Given the description of an element on the screen output the (x, y) to click on. 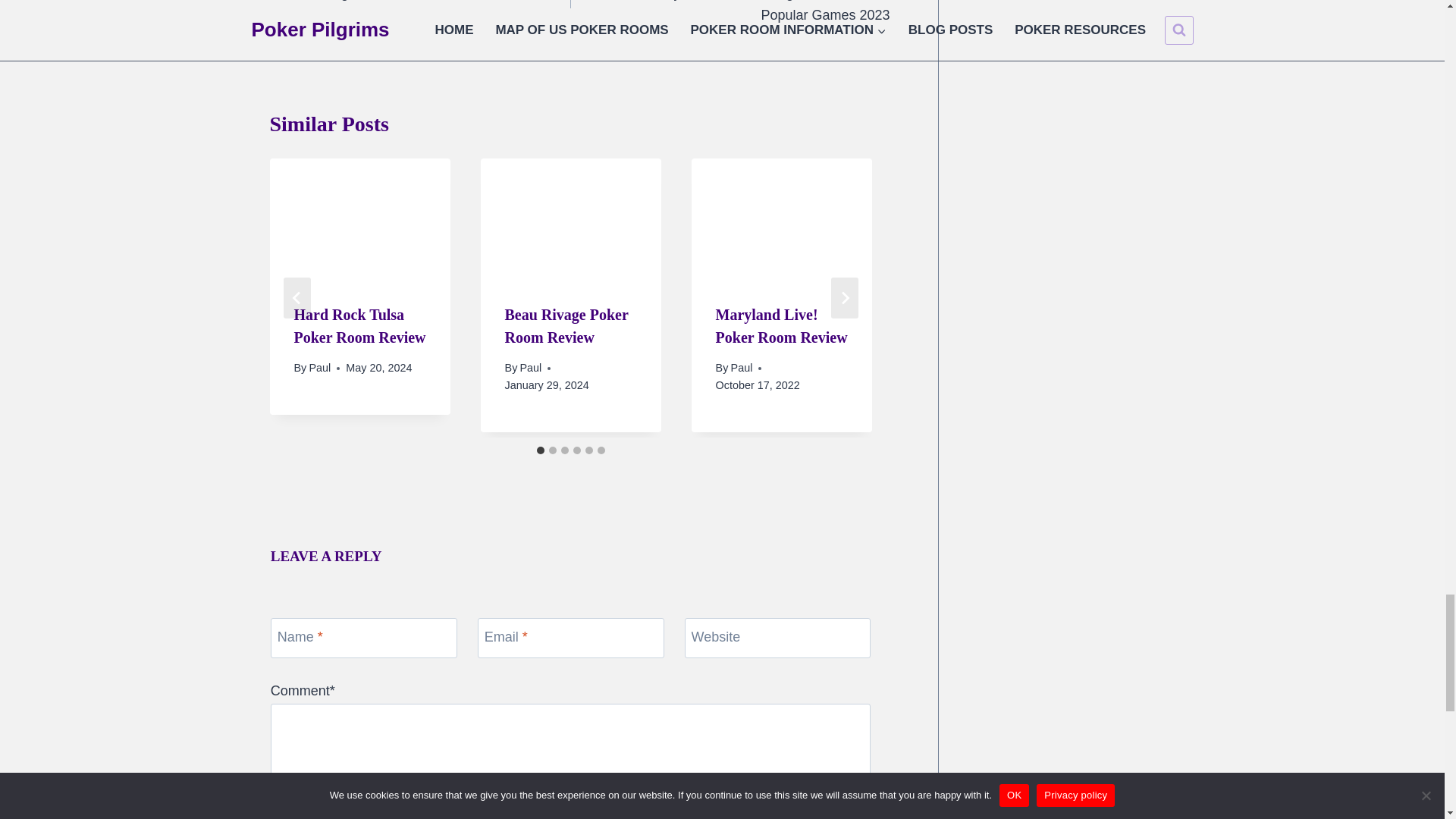
Paul (319, 367)
Hard Rock Tulsa Poker Room Review (360, 325)
